Given the description of an element on the screen output the (x, y) to click on. 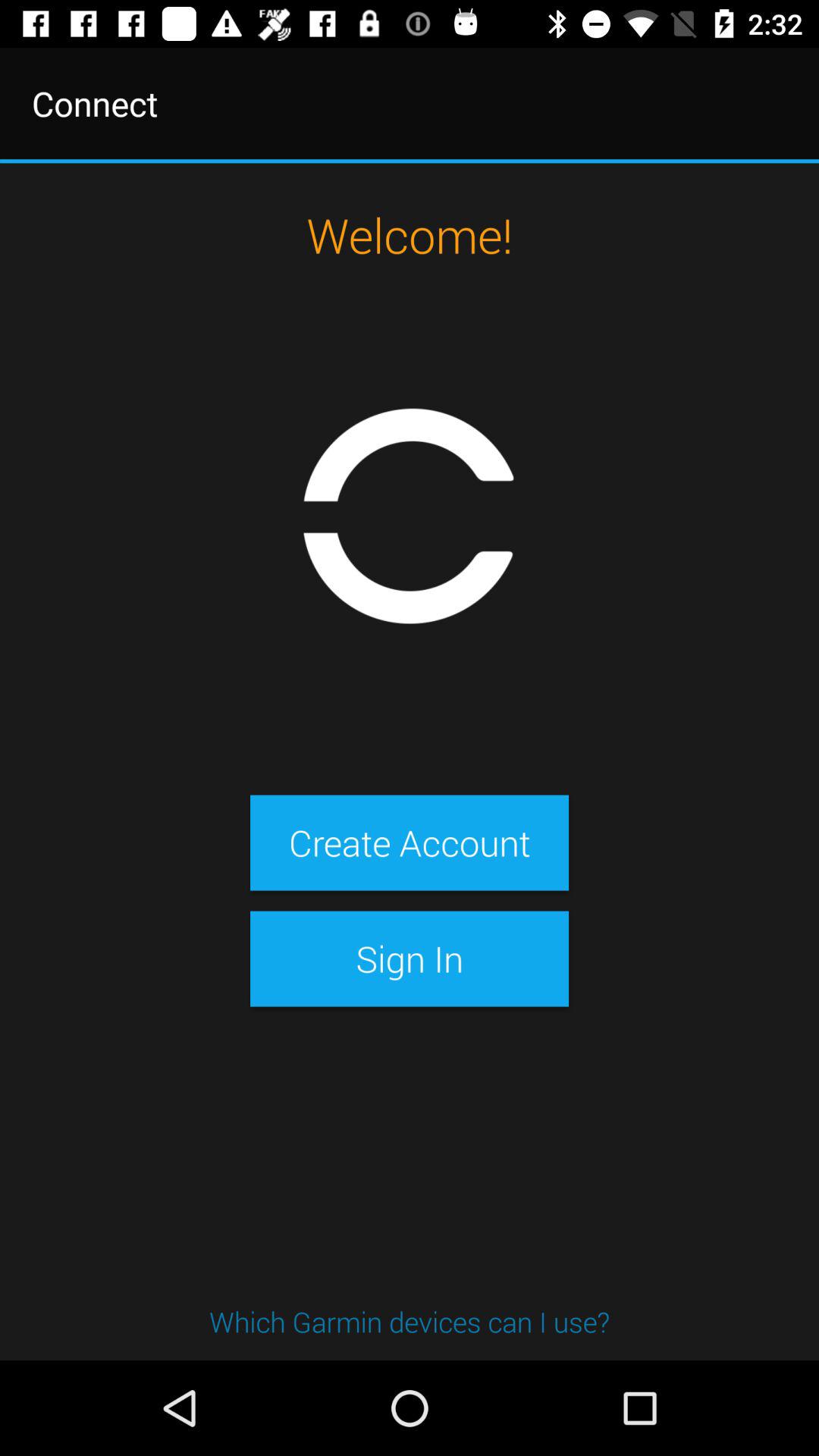
open create account (409, 842)
